Given the description of an element on the screen output the (x, y) to click on. 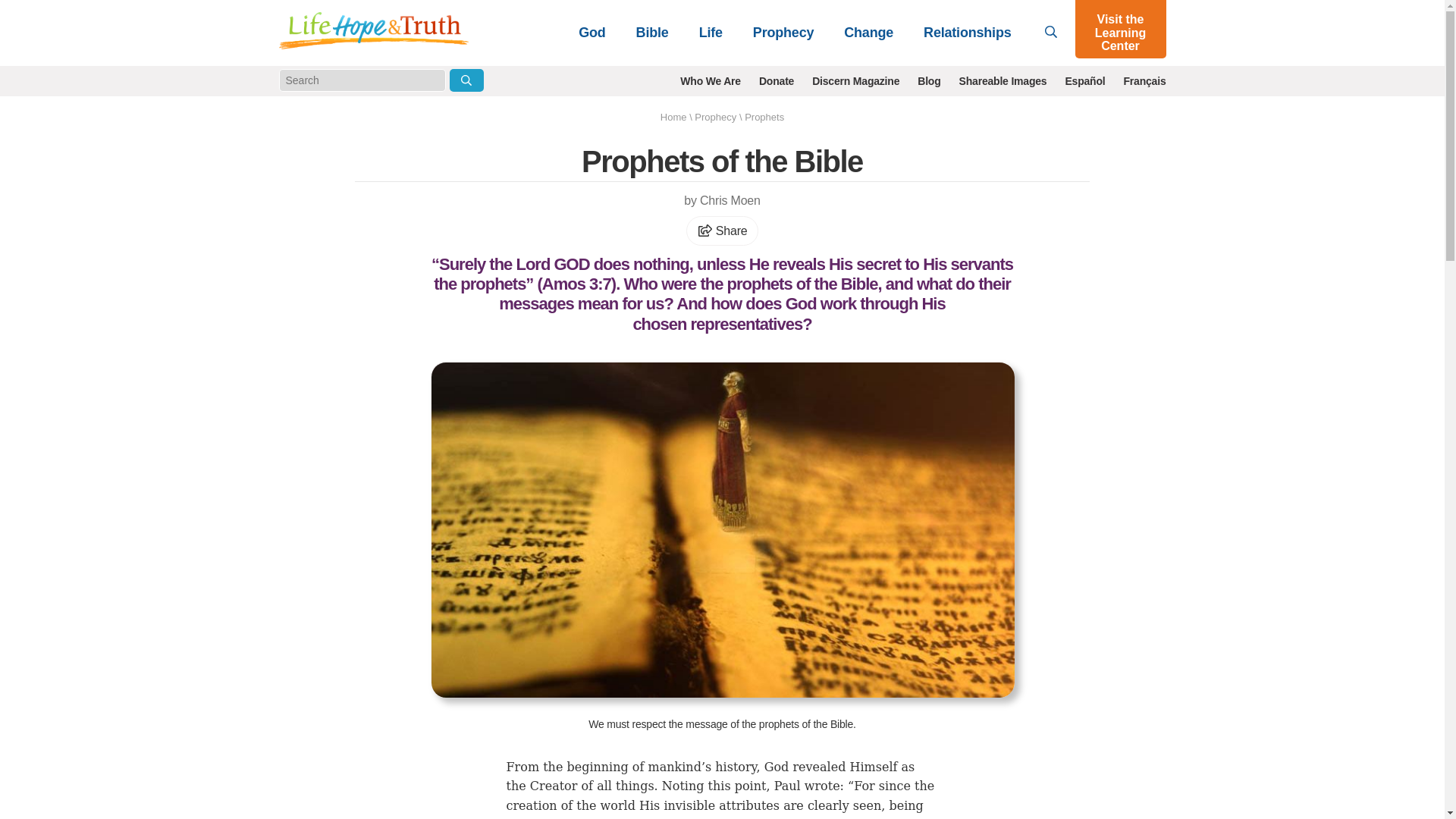
Bible (652, 32)
Life (711, 32)
God (591, 32)
